Given the description of an element on the screen output the (x, y) to click on. 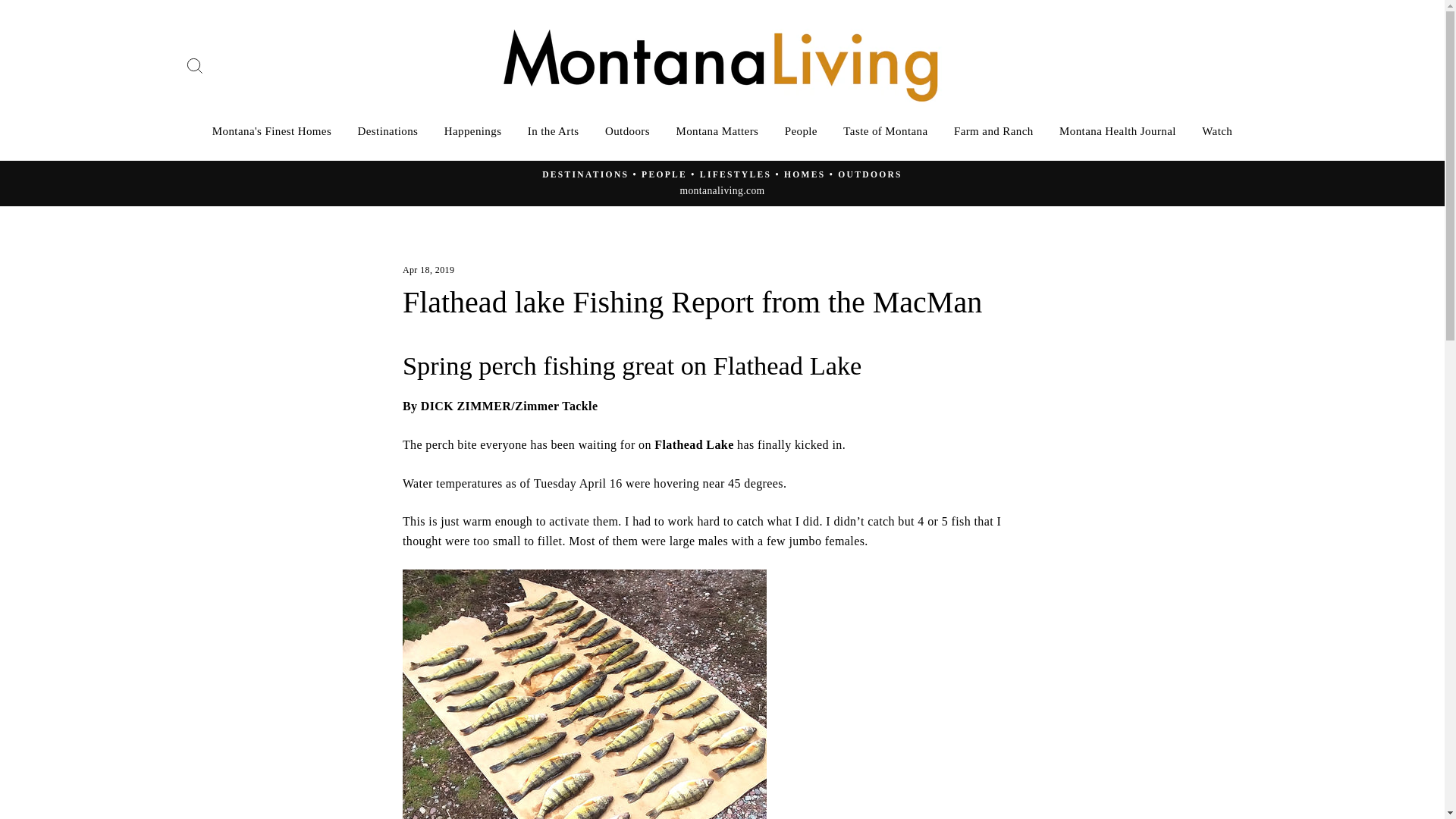
Montana's Finest Homes (271, 130)
Farm and Ranch (993, 130)
People (800, 130)
Watch (1217, 130)
Taste of Montana (885, 130)
Montana Health Journal (1118, 130)
Happenings (472, 130)
Destinations (387, 130)
Outdoors (627, 130)
Montana Matters (716, 130)
In the Arts (553, 130)
Search (194, 65)
